Given the description of an element on the screen output the (x, y) to click on. 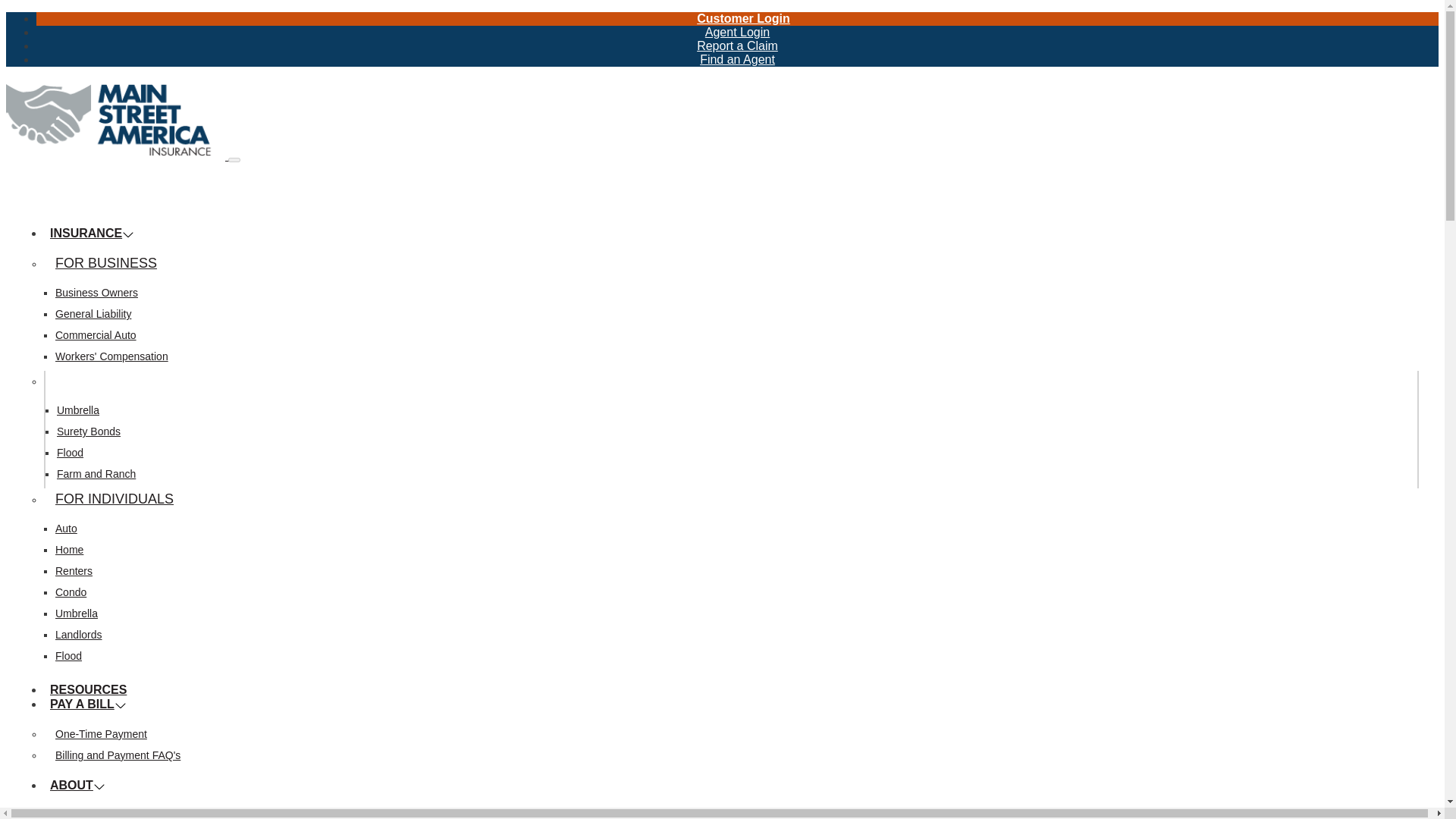
FOR INDIVIDUALS (114, 498)
Farm and Ranch (95, 473)
pay my bill (101, 734)
Home (116, 155)
Report a Claim (737, 45)
Flood (69, 452)
Business Owners (96, 292)
Surety Bonds (88, 431)
Workers' Compensation (111, 356)
Commercial Auto (95, 335)
Renters (74, 571)
PAY A BILL (87, 703)
Landlords (78, 634)
Umbrella (77, 410)
Flood (68, 655)
